Given the description of an element on the screen output the (x, y) to click on. 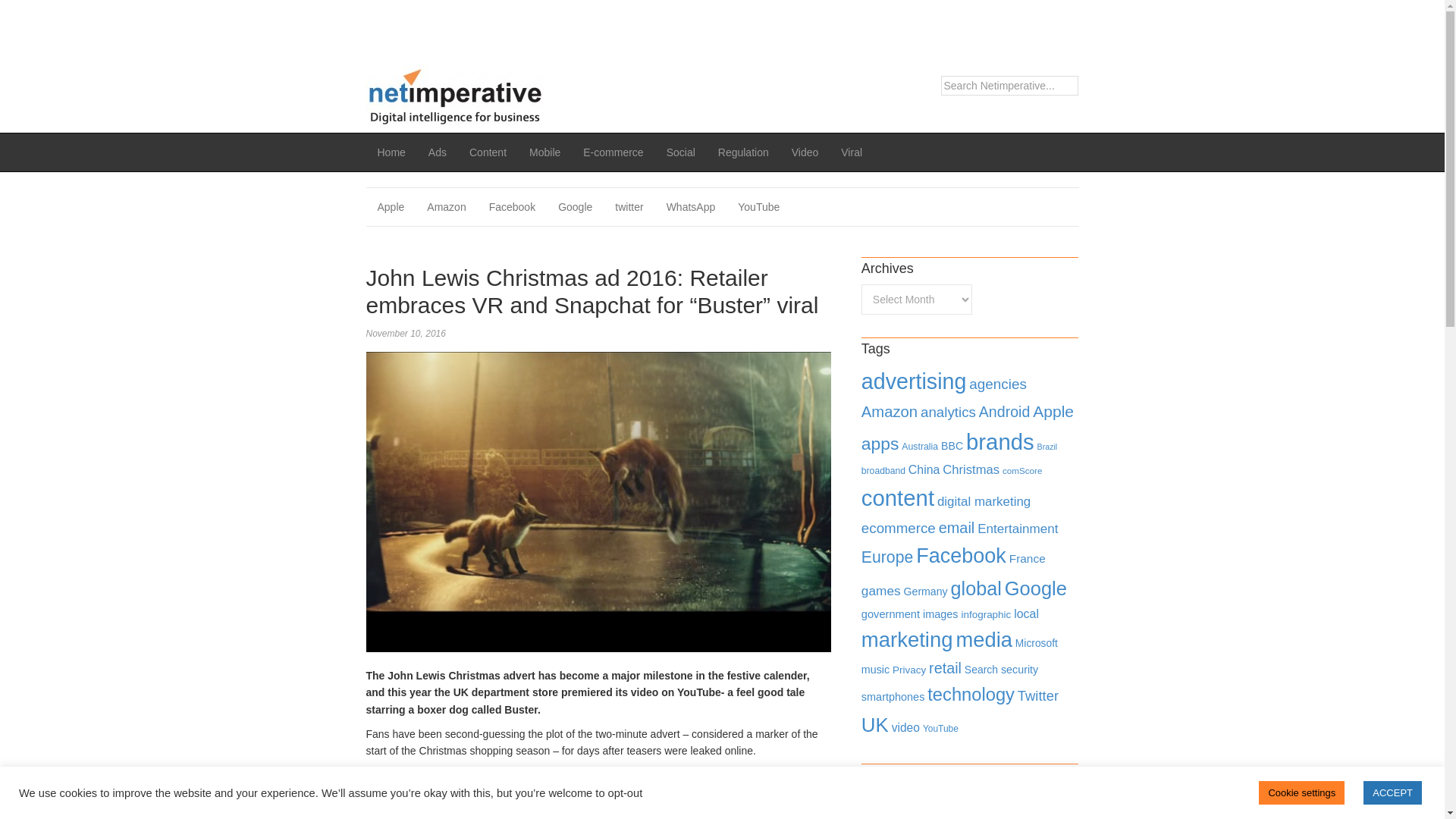
Australia (919, 446)
Video (804, 152)
Ads (437, 152)
Facebook (512, 207)
advertising (913, 381)
twitter (628, 207)
Apple (389, 207)
Facebook (512, 207)
Home (390, 152)
Ads (437, 152)
